Given the description of an element on the screen output the (x, y) to click on. 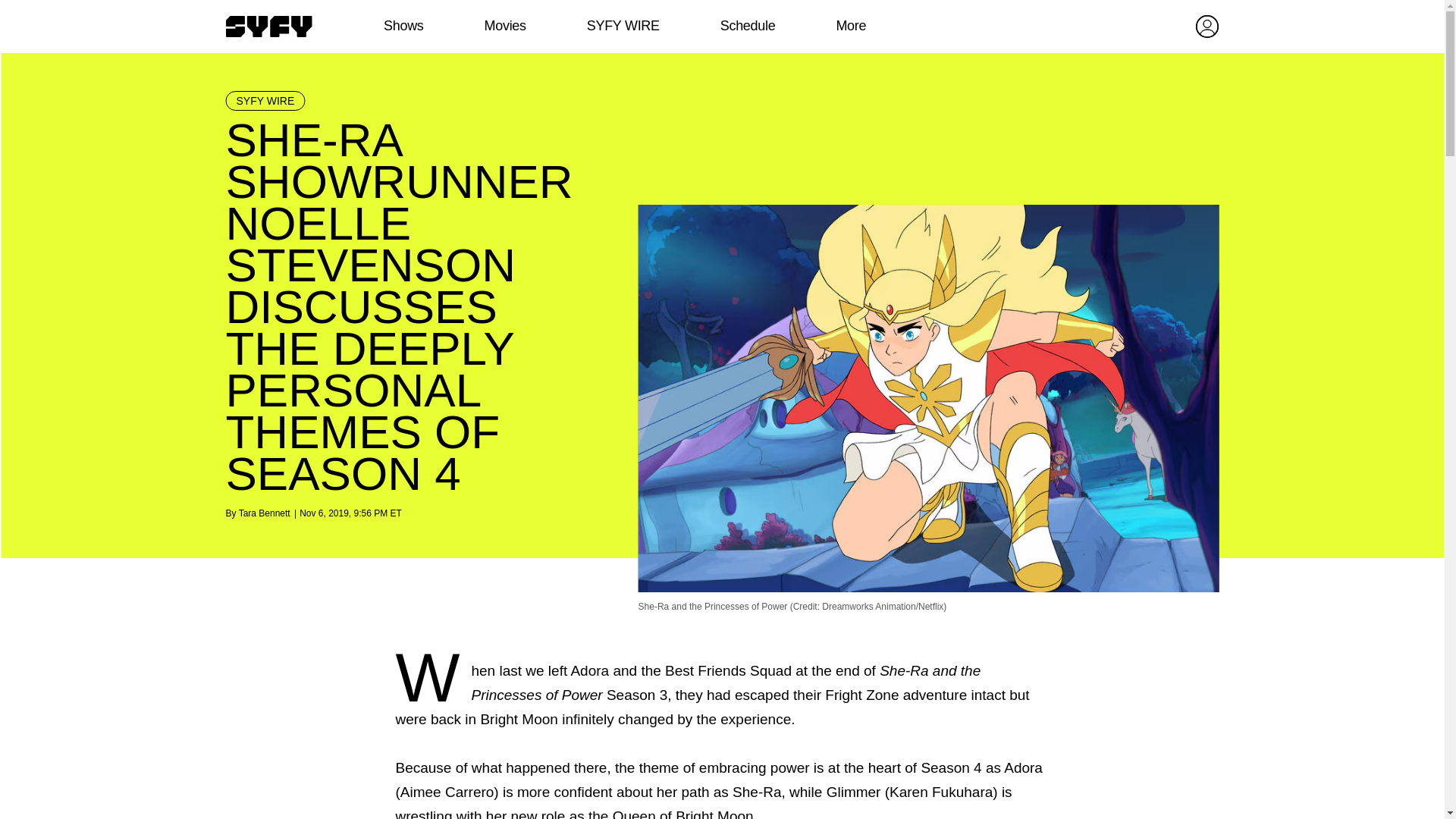
Tara Bennett (263, 512)
More (850, 26)
Schedule (746, 26)
SYFY WIRE (622, 26)
Shows (403, 26)
Movies (504, 26)
SYFY WIRE (265, 100)
